Given the description of an element on the screen output the (x, y) to click on. 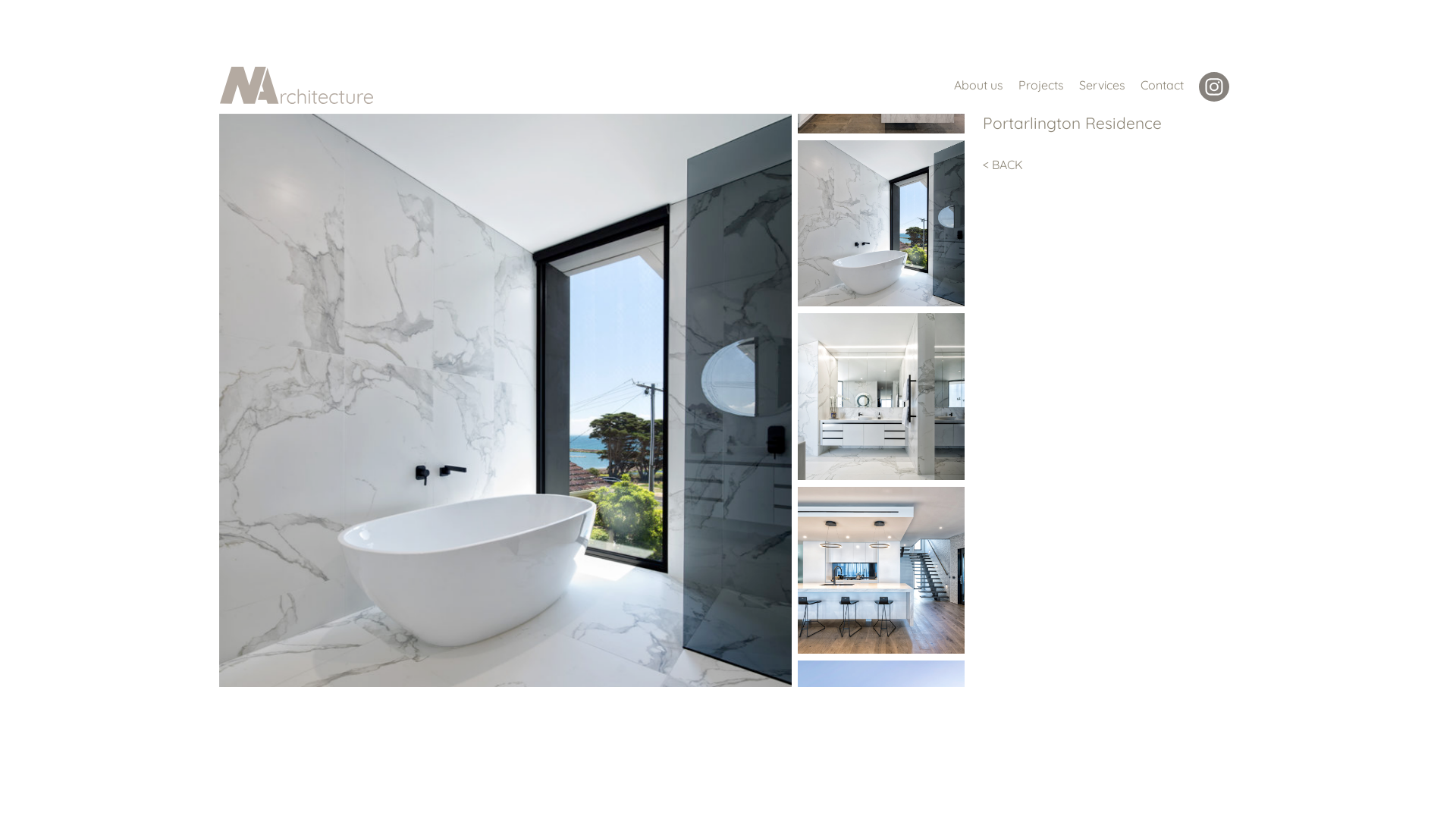
Contact Element type: text (1161, 84)
Services Element type: text (1101, 84)
Projects Element type: text (1040, 84)
< BACK Element type: text (1109, 164)
About us Element type: text (978, 84)
